Given the description of an element on the screen output the (x, y) to click on. 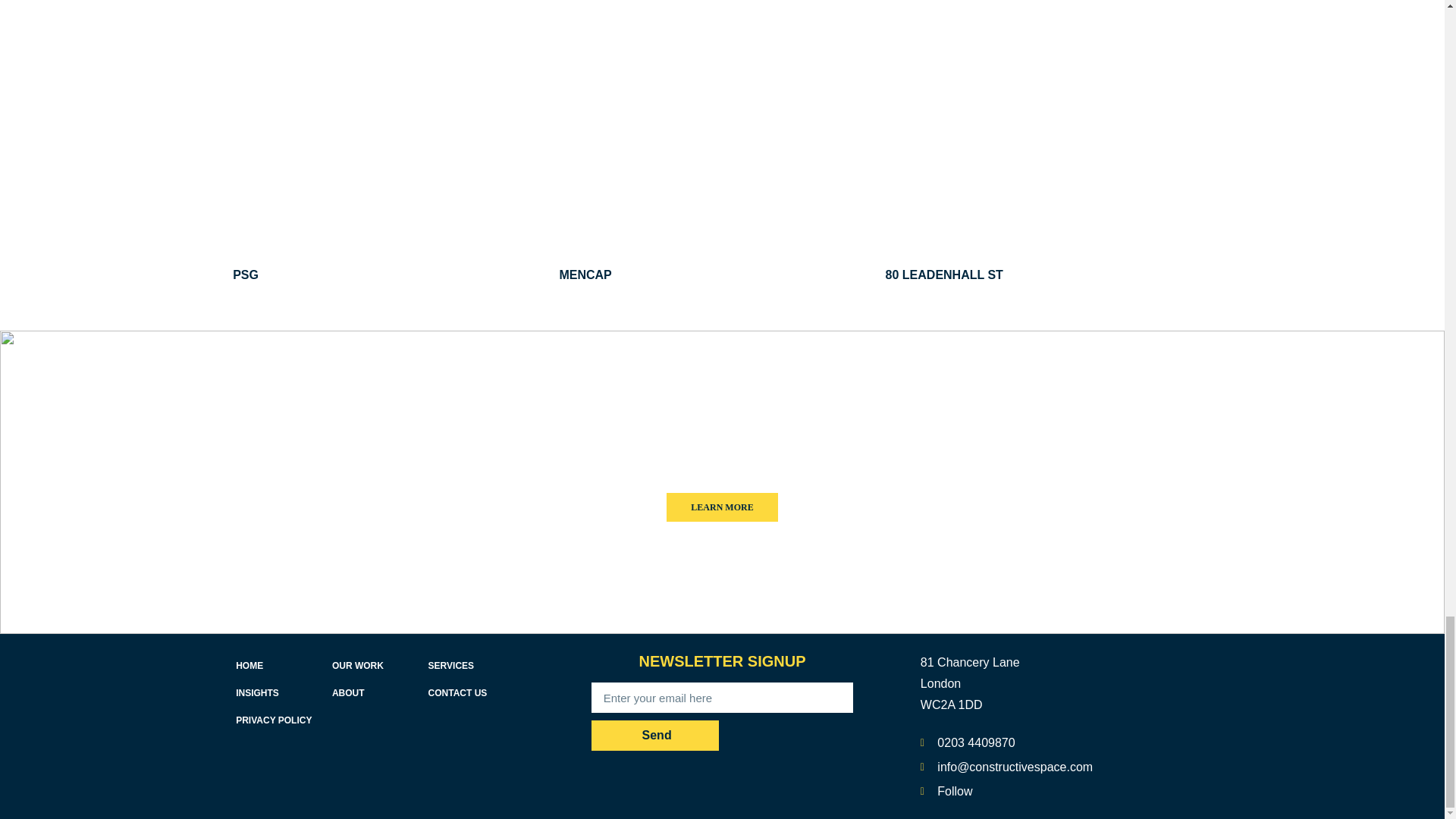
MENCAP (585, 274)
80 LEADENHALL ST (944, 274)
SERVICES (451, 665)
CONTACT US (457, 692)
LEARN MORE (721, 507)
INSIGHTS (257, 692)
PSG (245, 274)
PRIVACY POLICY (273, 719)
OUR WORK (357, 665)
ABOUT (348, 692)
HOME (249, 665)
Send (655, 735)
0203 4409870 (1065, 742)
